Given the description of an element on the screen output the (x, y) to click on. 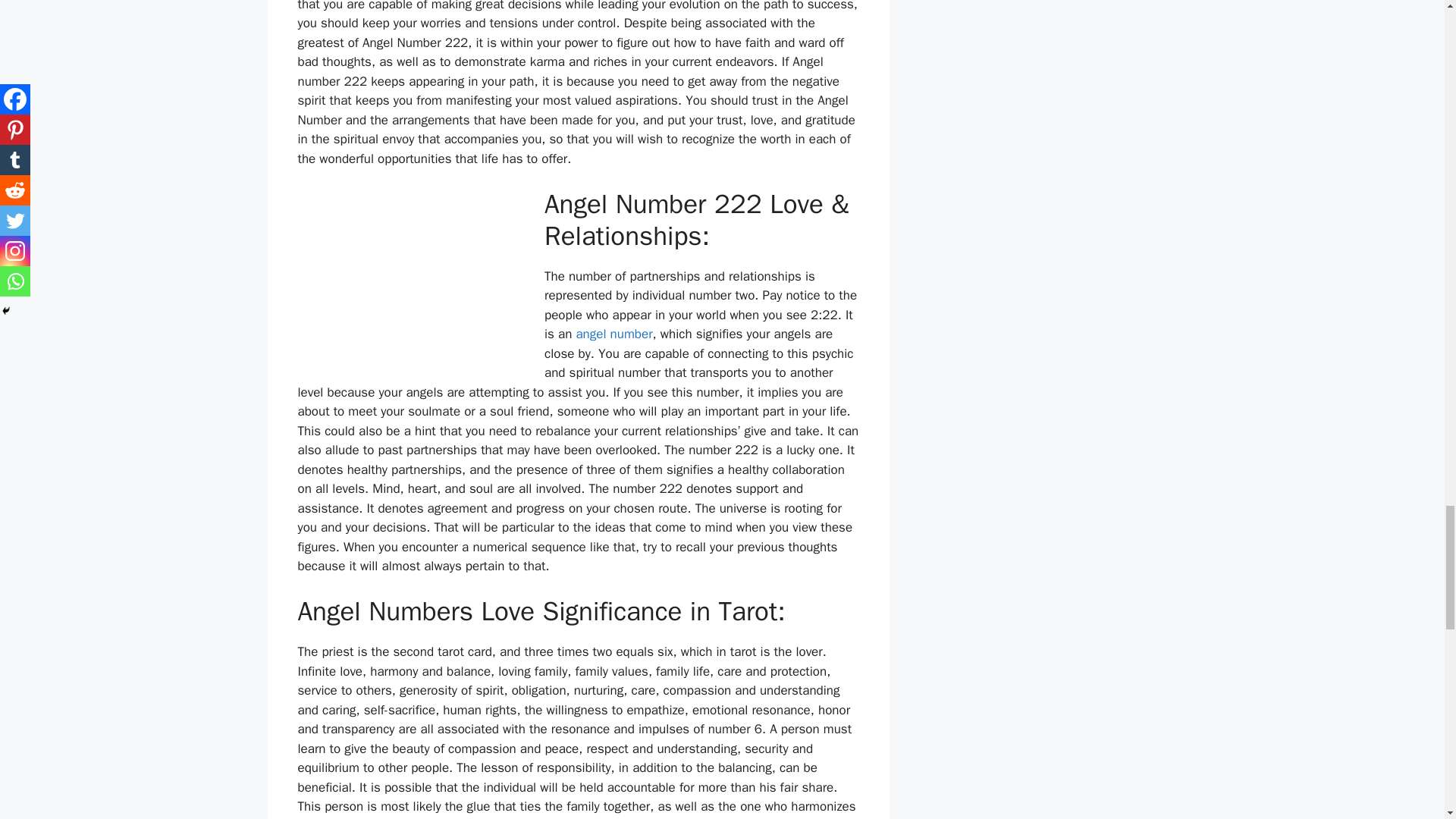
angel number (613, 333)
